Given the description of an element on the screen output the (x, y) to click on. 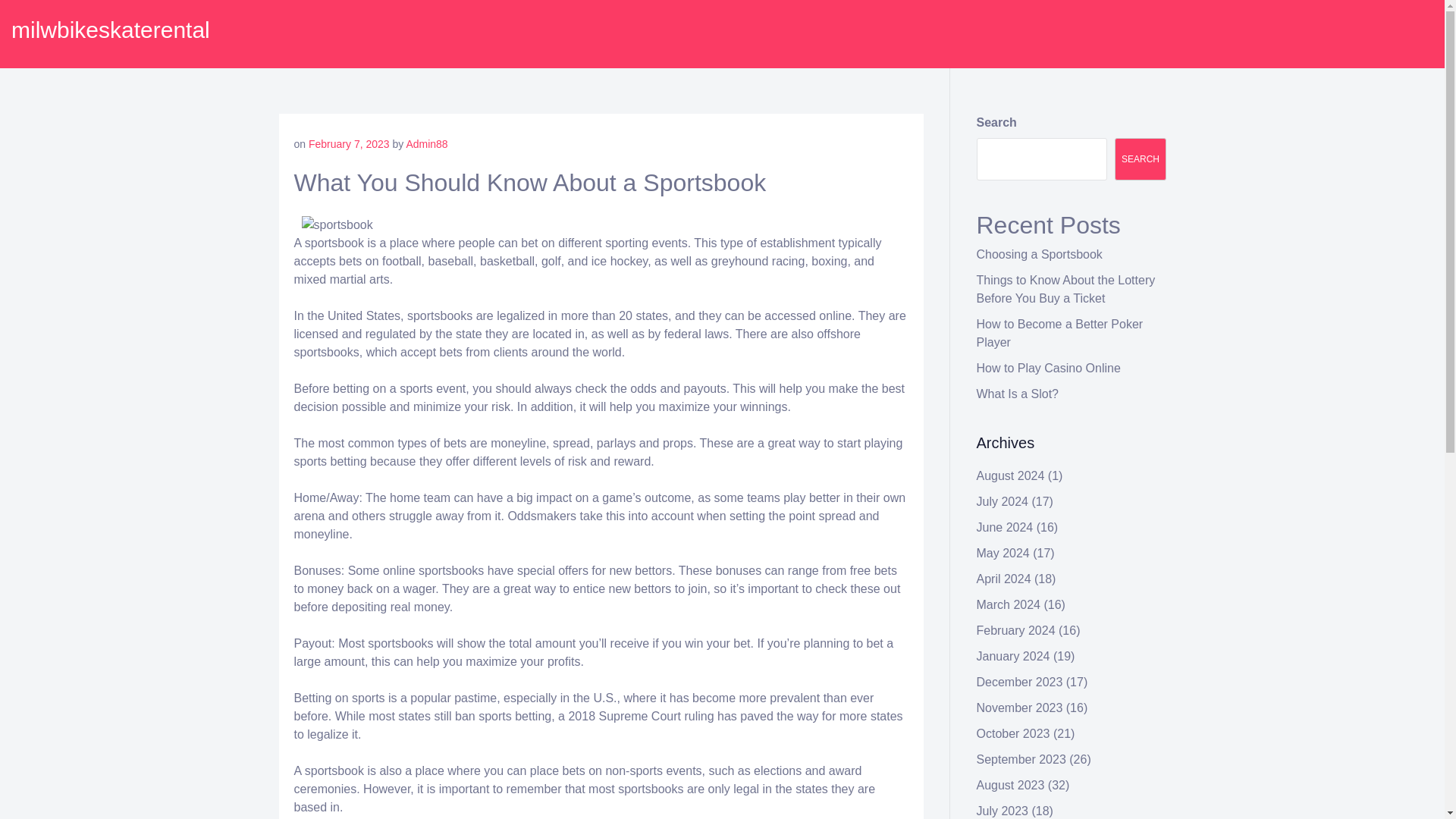
November 2023 (1019, 707)
July 2023 (1002, 810)
Things to Know About the Lottery Before You Buy a Ticket (1066, 288)
February 7, 2023 (349, 143)
SEARCH (1140, 159)
What Is a Slot? (1017, 393)
January 2024 (1012, 656)
milwbikeskaterental (110, 29)
August 2024 (1010, 475)
March 2024 (1008, 604)
August 2023 (1010, 784)
December 2023 (1019, 681)
May 2024 (1002, 553)
September 2023 (1020, 758)
April 2024 (1003, 578)
